Given the description of an element on the screen output the (x, y) to click on. 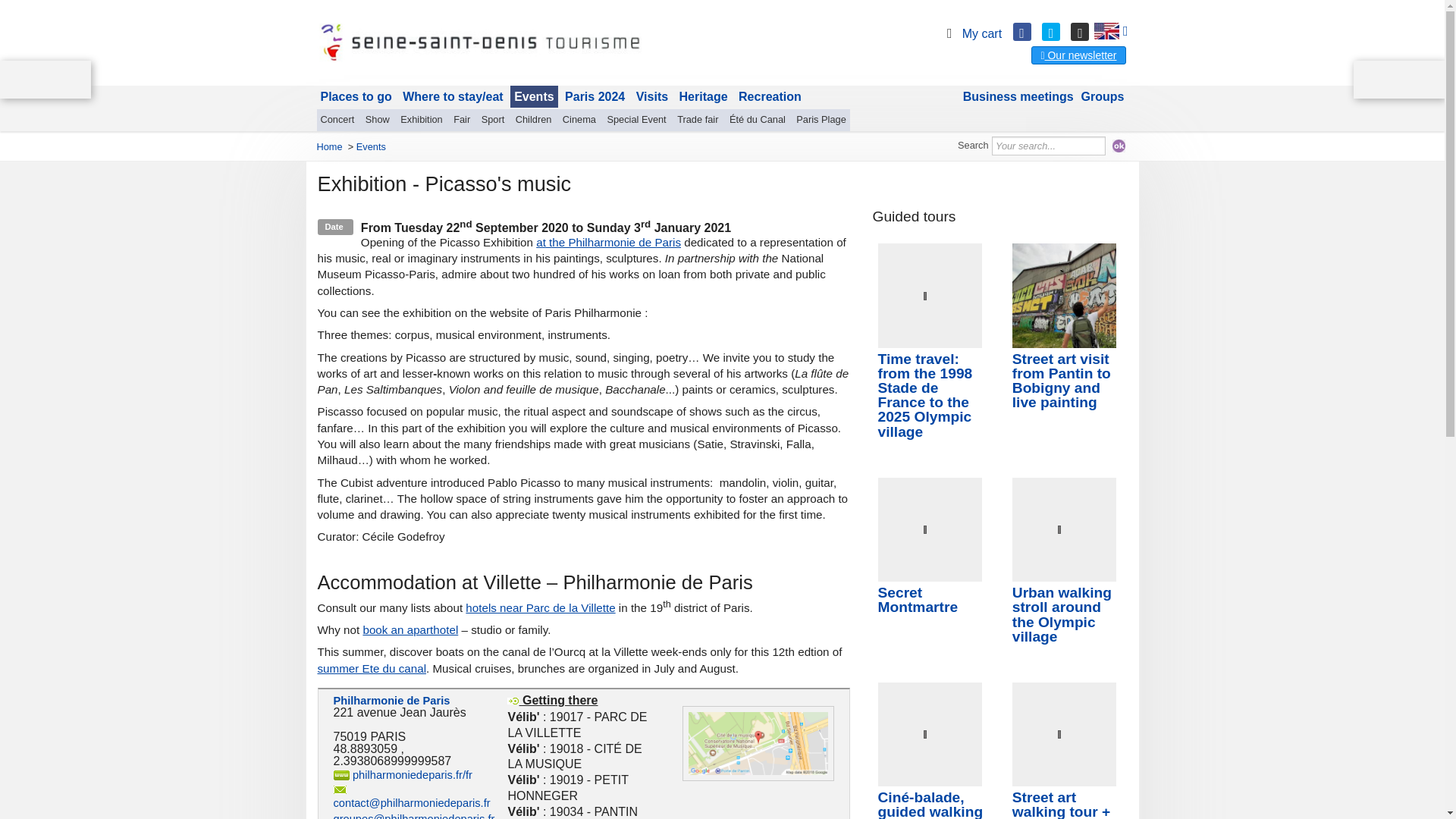
48.8893059 (365, 748)
Events (534, 96)
Concert (337, 119)
Trade fair (697, 119)
Exhibition (421, 119)
Show (377, 119)
Our newsletter (1077, 54)
2.3938068999999587 (392, 760)
Sport (492, 119)
Special Event (635, 119)
 My cart (970, 33)
Children (534, 119)
Cinema (579, 119)
Places to go (356, 96)
